Given the description of an element on the screen output the (x, y) to click on. 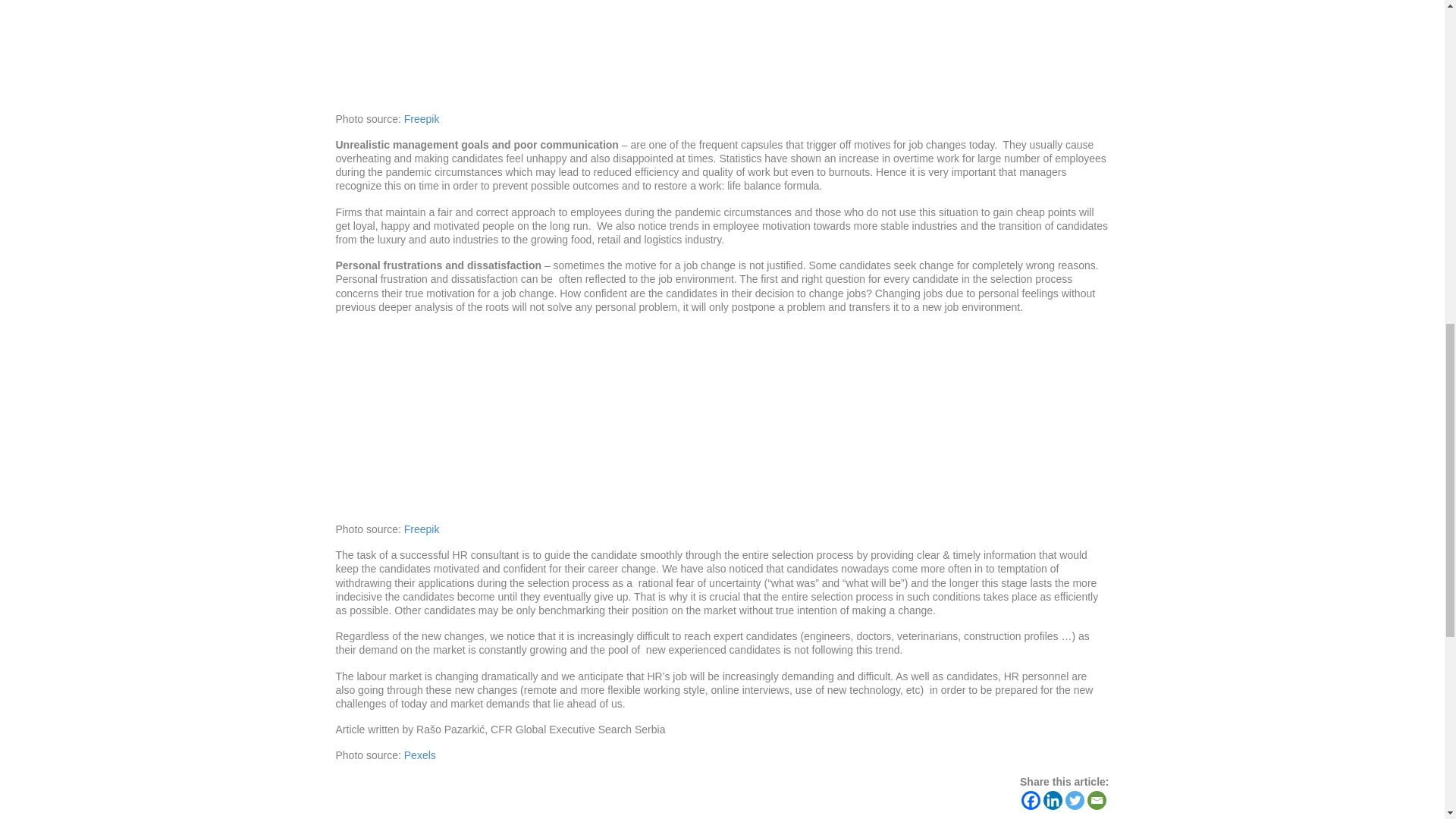
Freepik (421, 119)
Pexels (419, 755)
Email (1096, 800)
Twitter (1074, 800)
Facebook (1031, 800)
Freepik (421, 529)
Linkedin (1052, 800)
